Given the description of an element on the screen output the (x, y) to click on. 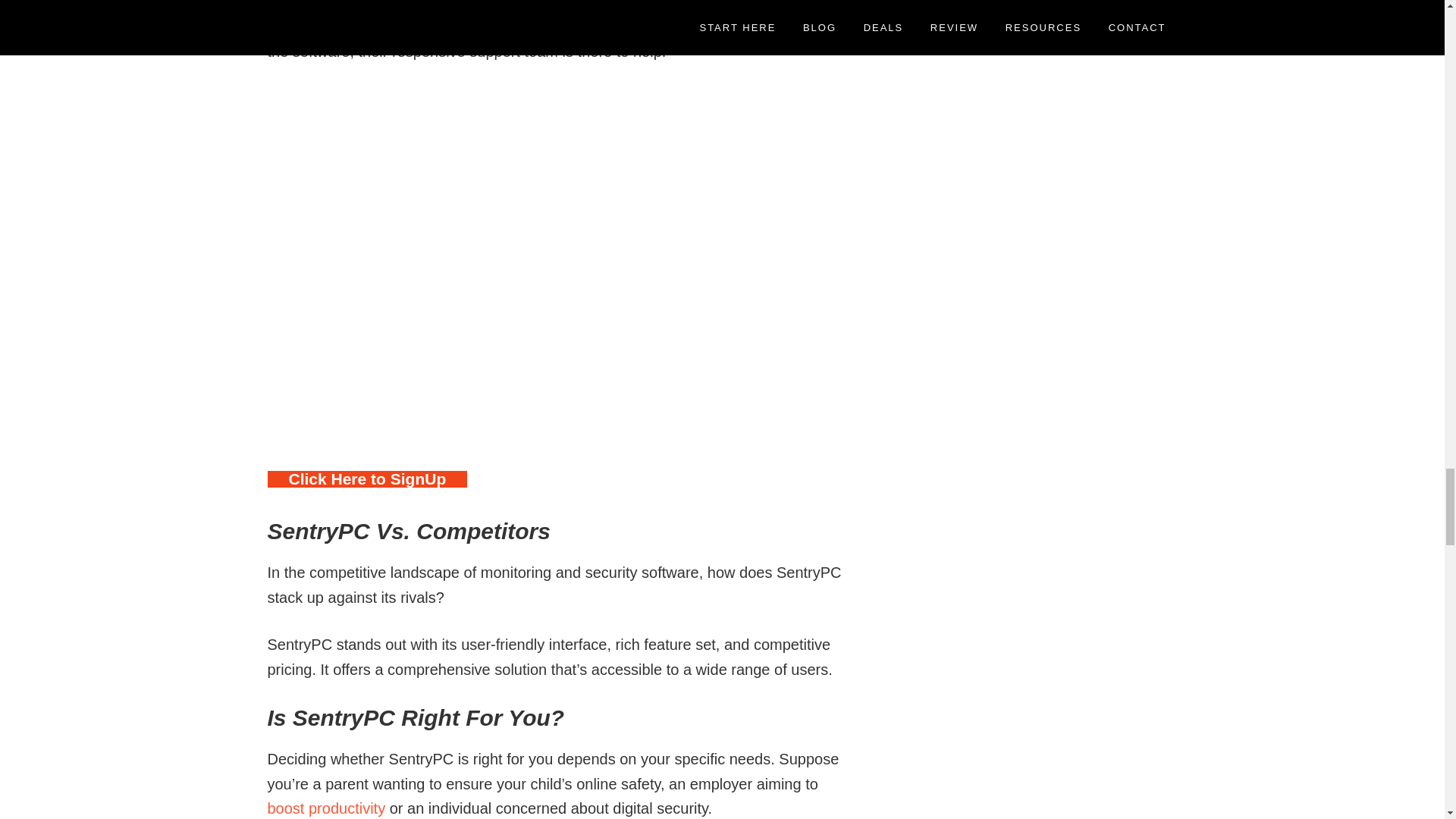
customer satisfaction (520, 5)
